Given the description of an element on the screen output the (x, y) to click on. 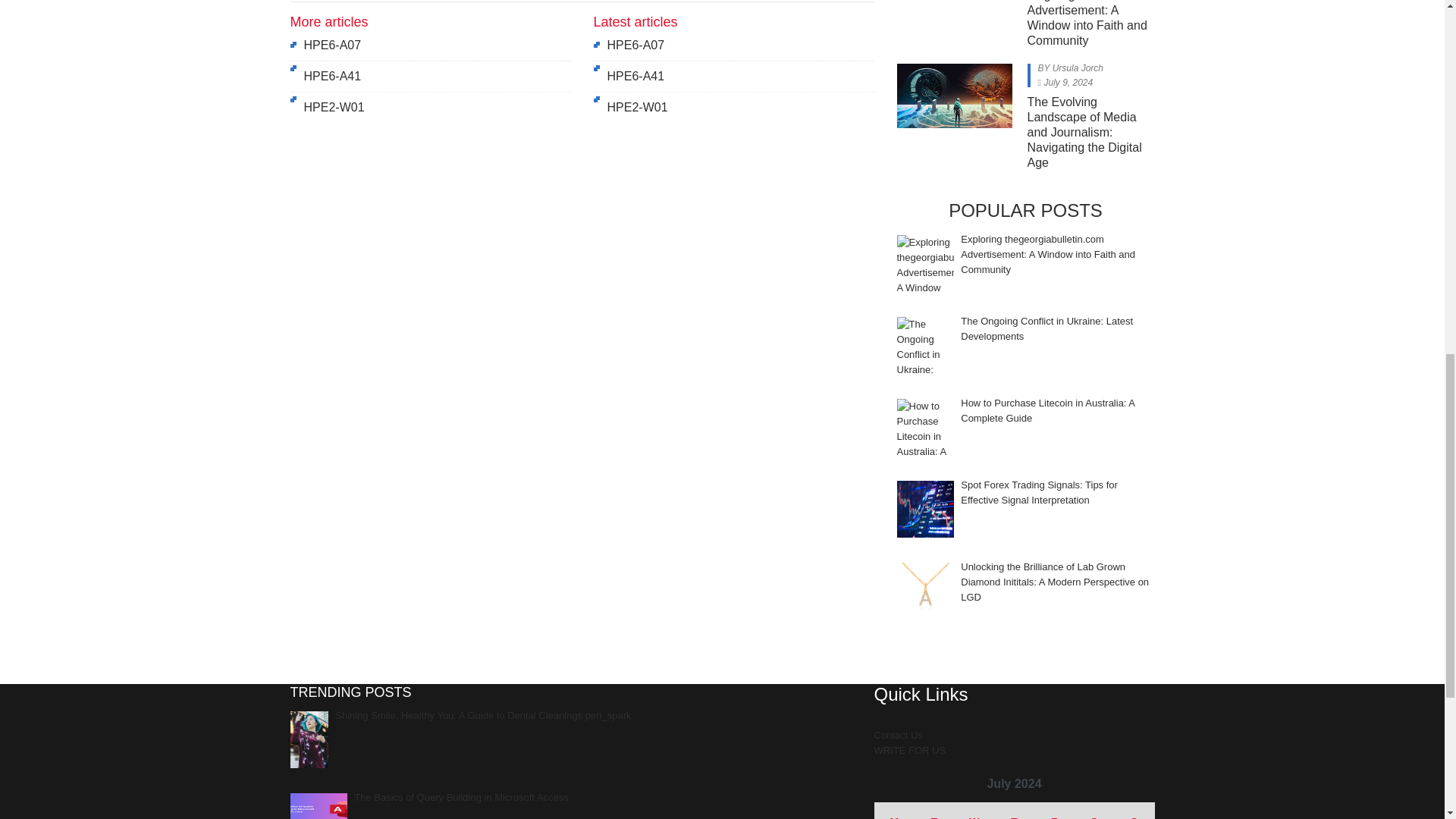
The Basics of Query Building in Microsoft Access (317, 806)
lab grown diamond inititals (924, 590)
The Ongoing Conflict in Ukraine: Latest Developments (924, 344)
How to Purchase Litecoin in Australia: A Complete Guide (924, 426)
